Given the description of an element on the screen output the (x, y) to click on. 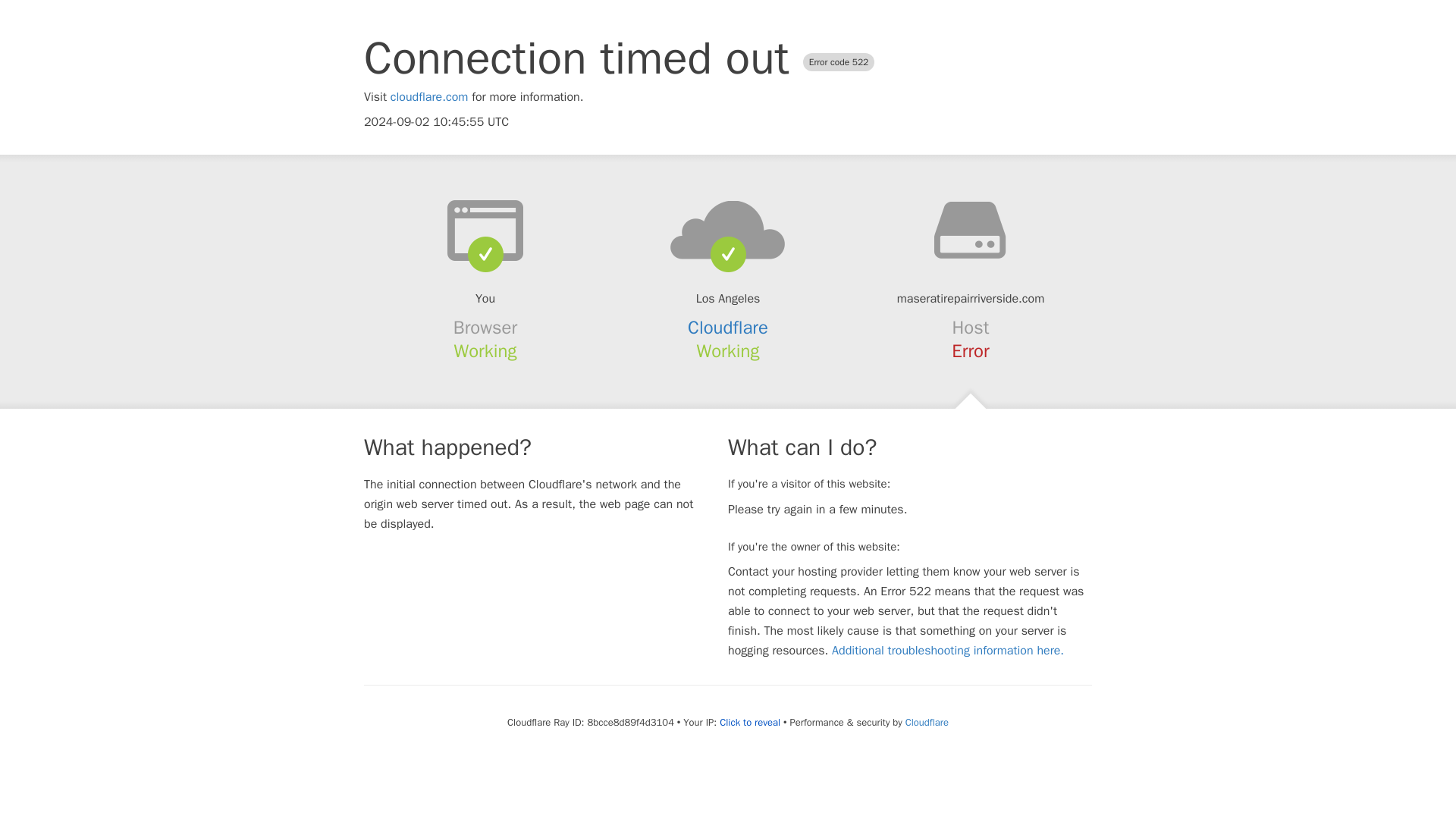
Click to reveal (749, 722)
Additional troubleshooting information here. (947, 650)
cloudflare.com (429, 96)
Cloudflare (927, 721)
Cloudflare (727, 327)
